Given the description of an element on the screen output the (x, y) to click on. 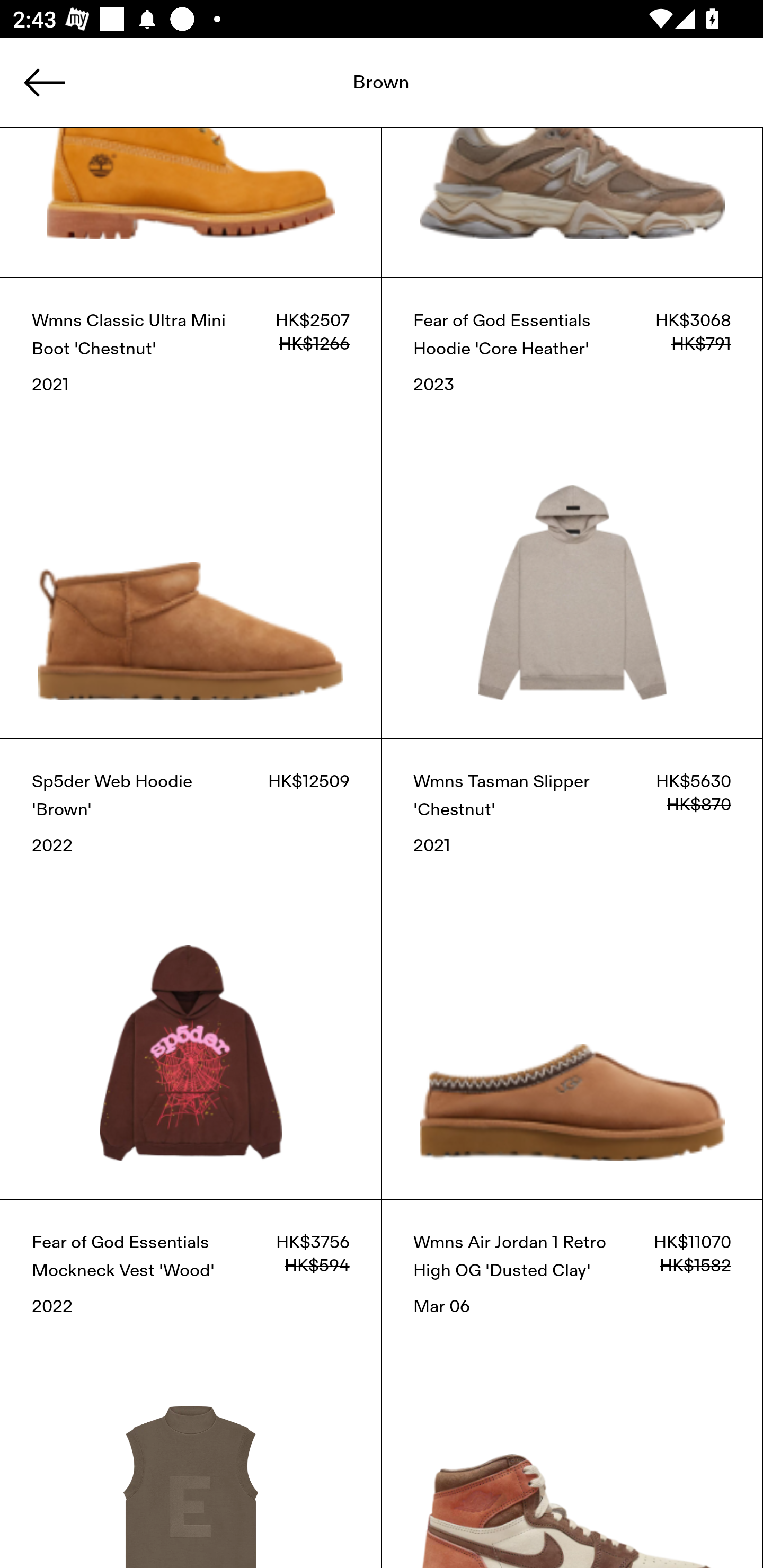
Sp5der Web Hoodie 'Brown' HK$12509 2022 (190, 968)
Wmns Tasman Slipper 'Chestnut' HK$5630 HK$870 2021 (572, 968)
